Given the description of an element on the screen output the (x, y) to click on. 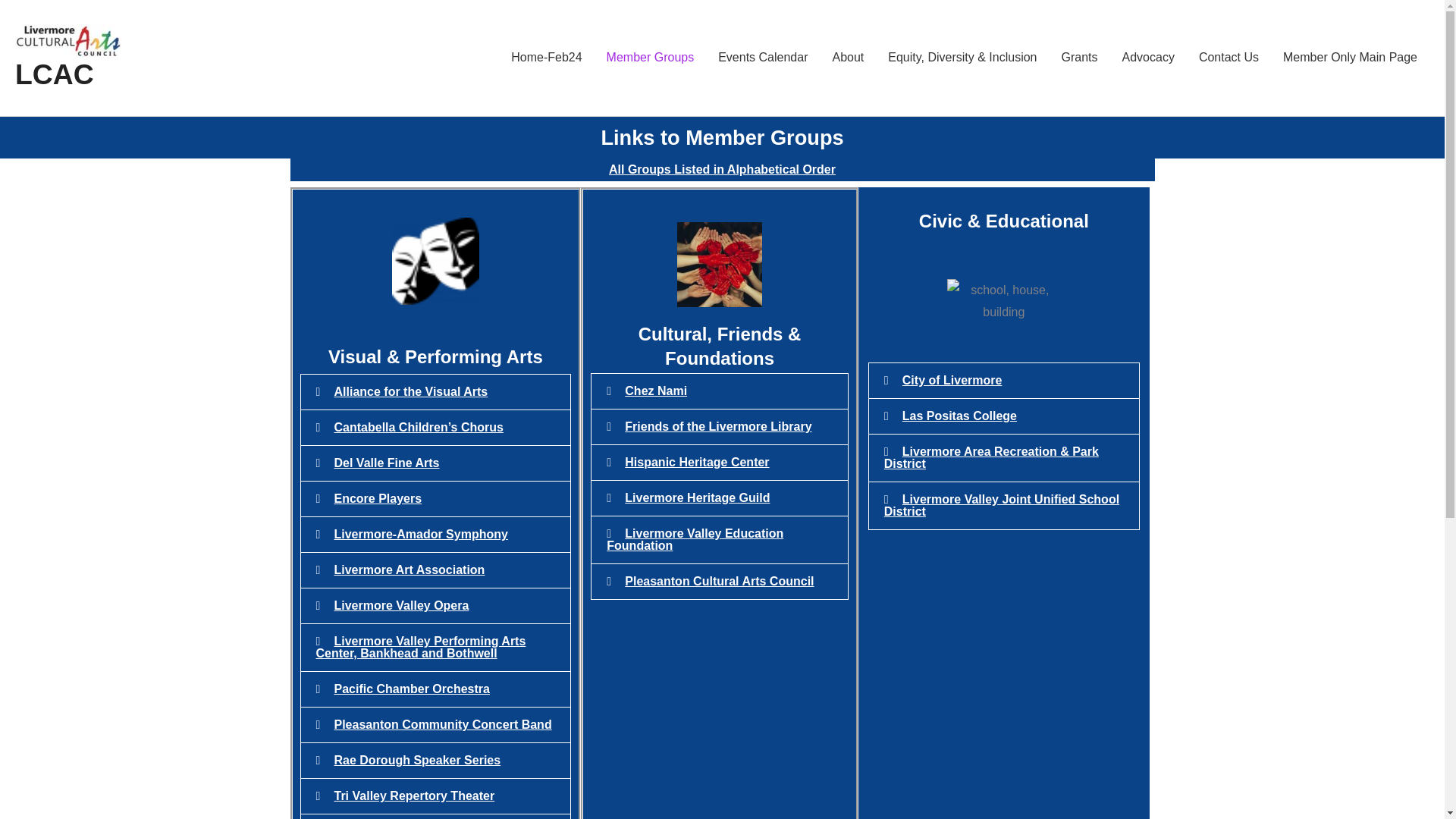
Del Valle Fine Arts (386, 462)
school, house, building-161945 (1004, 301)
Contact Us (1228, 57)
Home-Feb24 (546, 57)
drama-mask-pixabay (435, 260)
Rae Dorough Speaker Series (416, 759)
All Groups Listed in Alphabetical Order (721, 169)
Member Groups (650, 57)
About (847, 57)
